Given the description of an element on the screen output the (x, y) to click on. 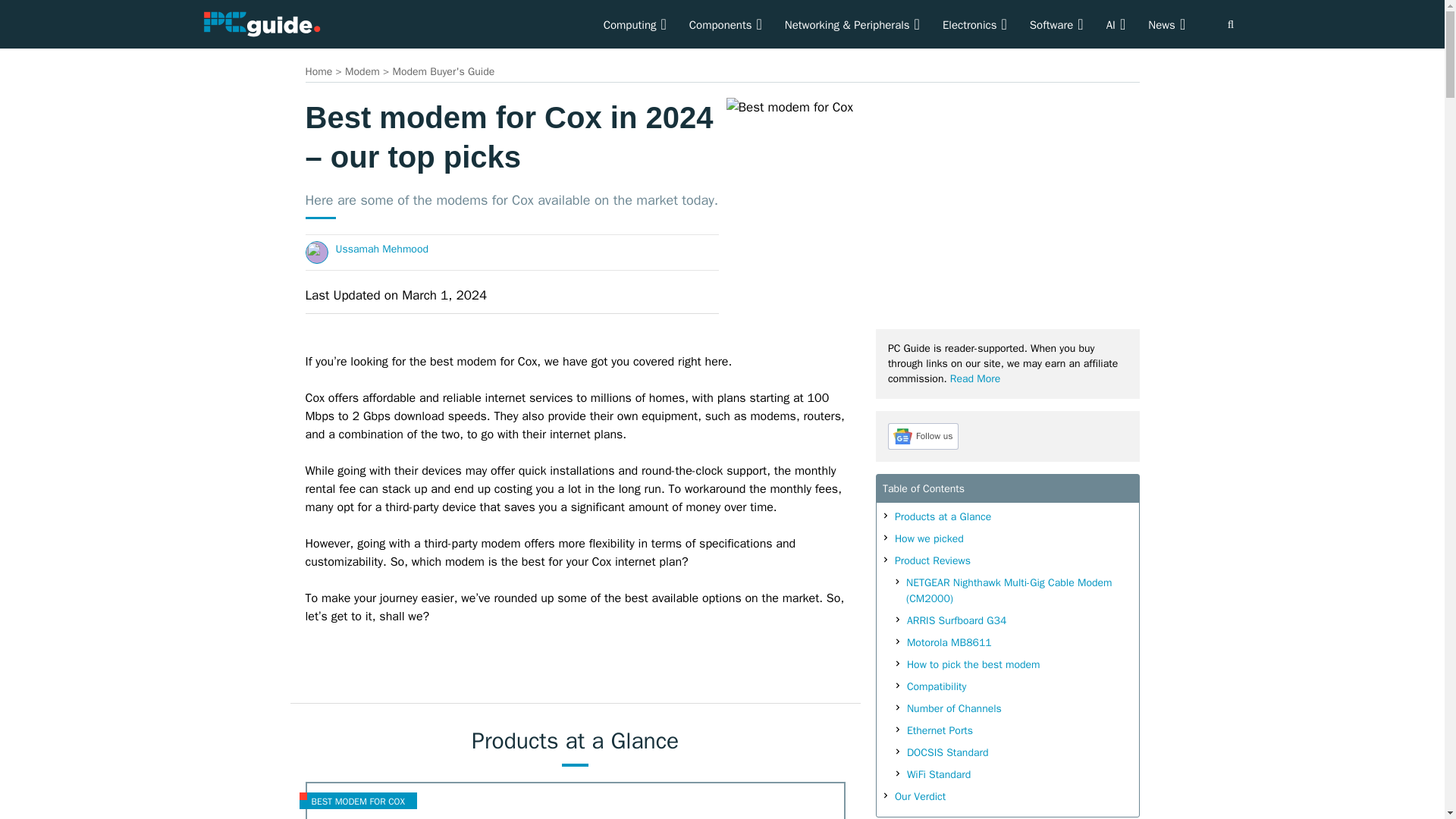
PC Guide (260, 23)
PC Guide (260, 23)
Computing (635, 23)
